Given the description of an element on the screen output the (x, y) to click on. 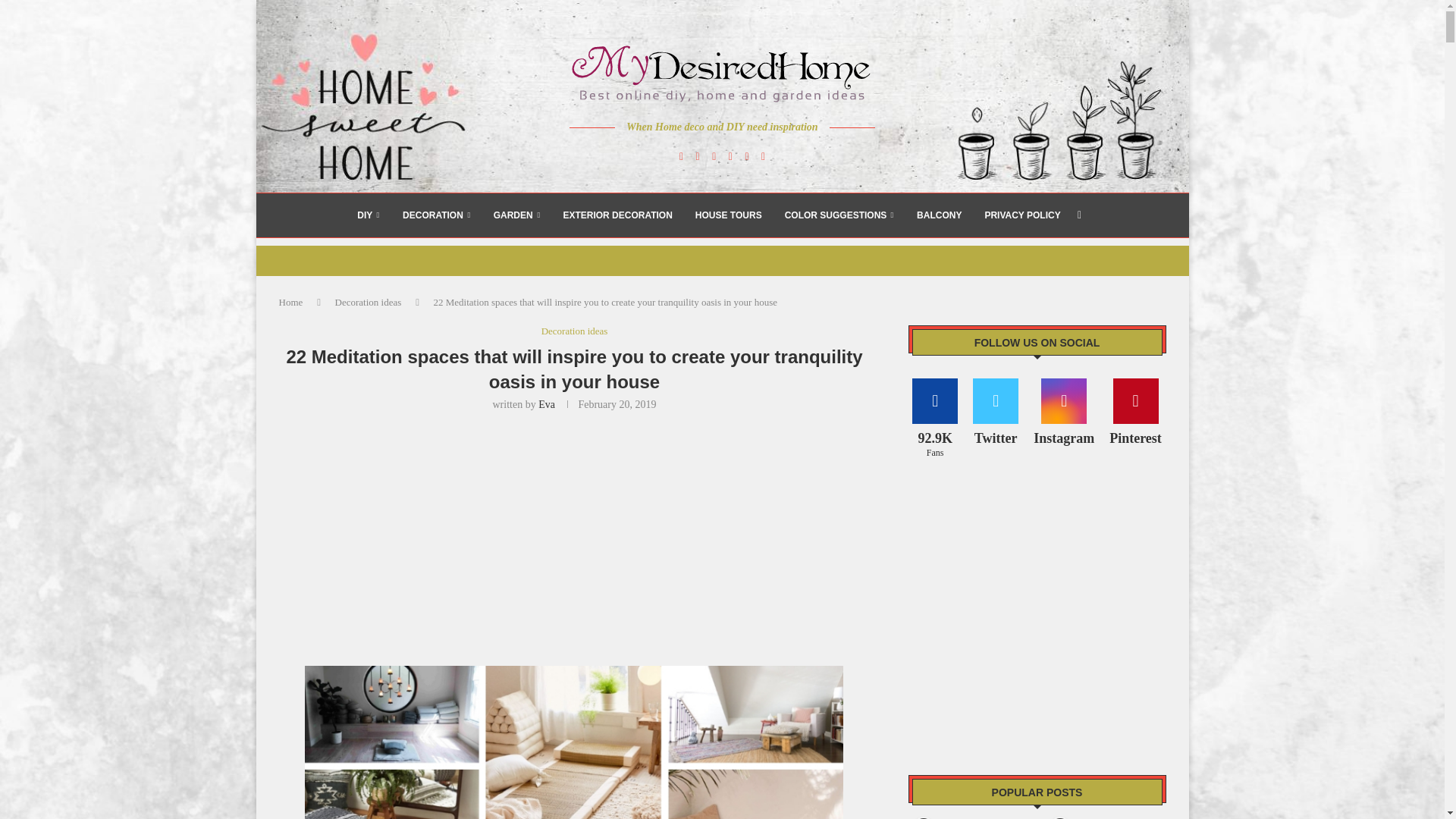
GARDEN (516, 215)
HOUSE TOURS (728, 215)
Decoration ideas (574, 331)
PRIVACY POLICY (1021, 215)
DECORATION (436, 215)
COLOR SUGGESTIONS (838, 215)
Home (290, 301)
BALCONY (938, 215)
Eva (546, 404)
EXTERIOR DECORATION (616, 215)
Decoration ideas (367, 301)
